Given the description of an element on the screen output the (x, y) to click on. 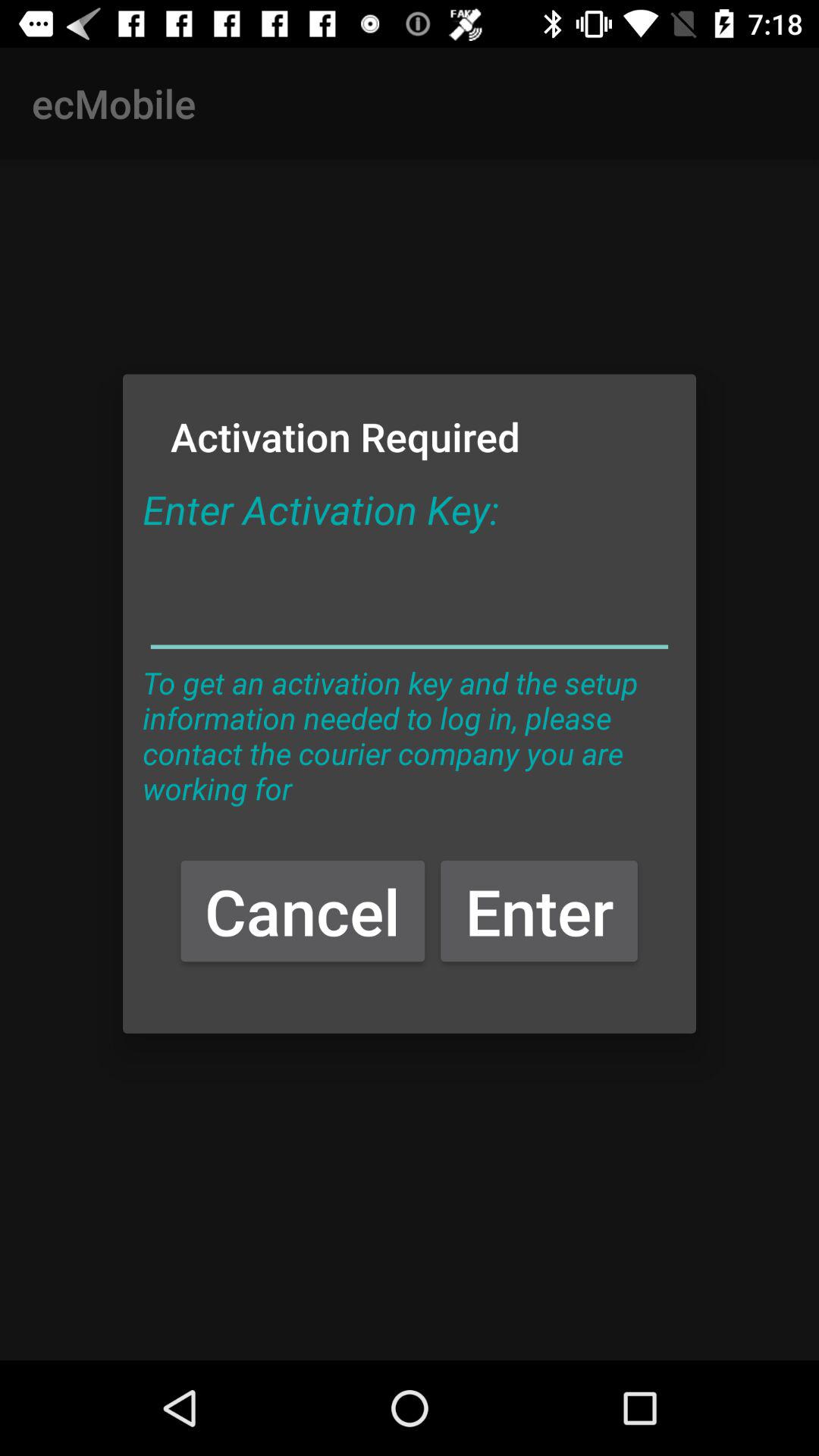
scroll until cancel button (302, 910)
